Given the description of an element on the screen output the (x, y) to click on. 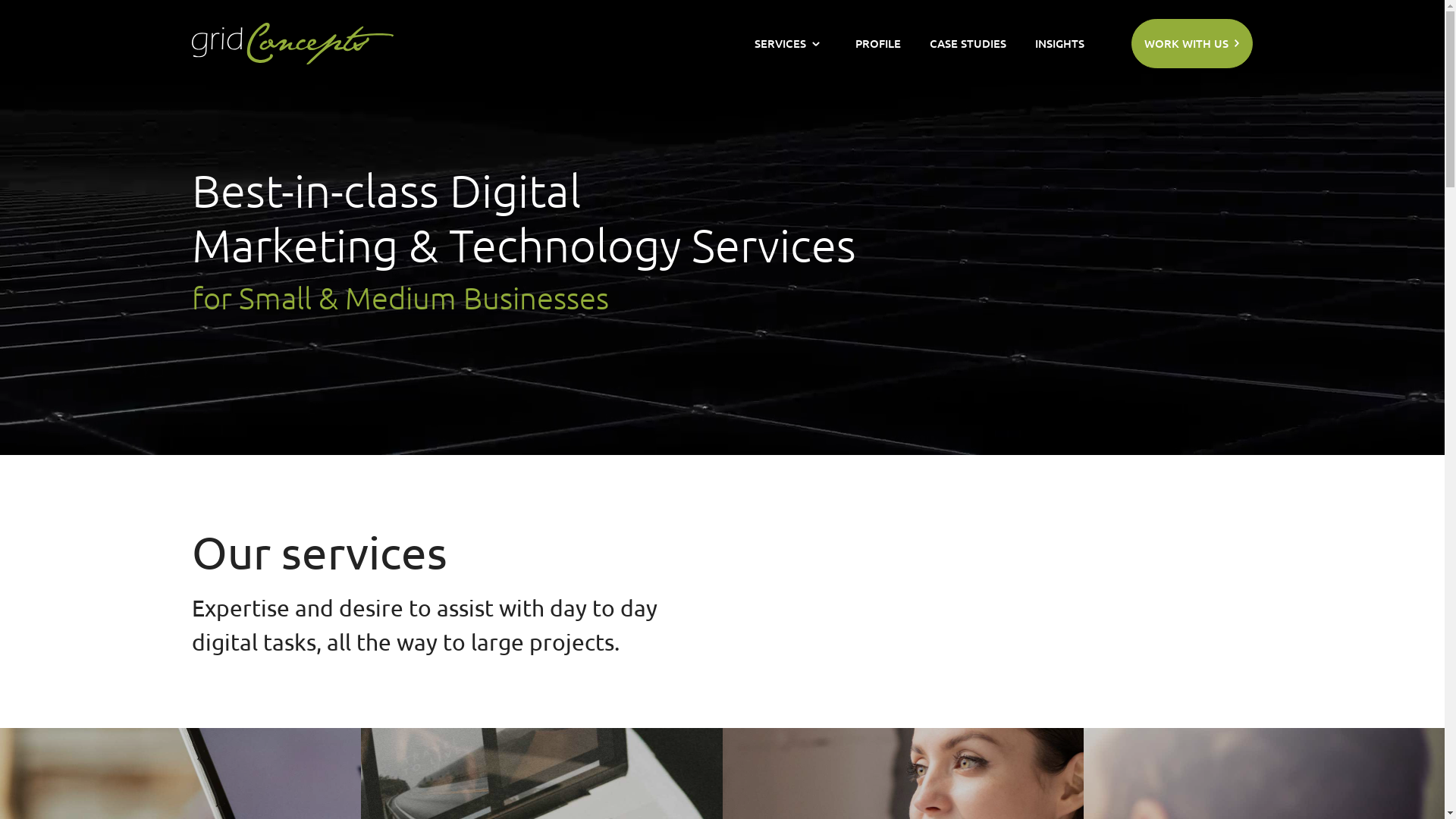
INSIGHTS Element type: text (1059, 43)
WORK WITH US Element type: text (1191, 42)
SERVICES Element type: text (780, 43)
CASE STUDIES Element type: text (967, 43)
PROFILE Element type: text (877, 43)
